Given the description of an element on the screen output the (x, y) to click on. 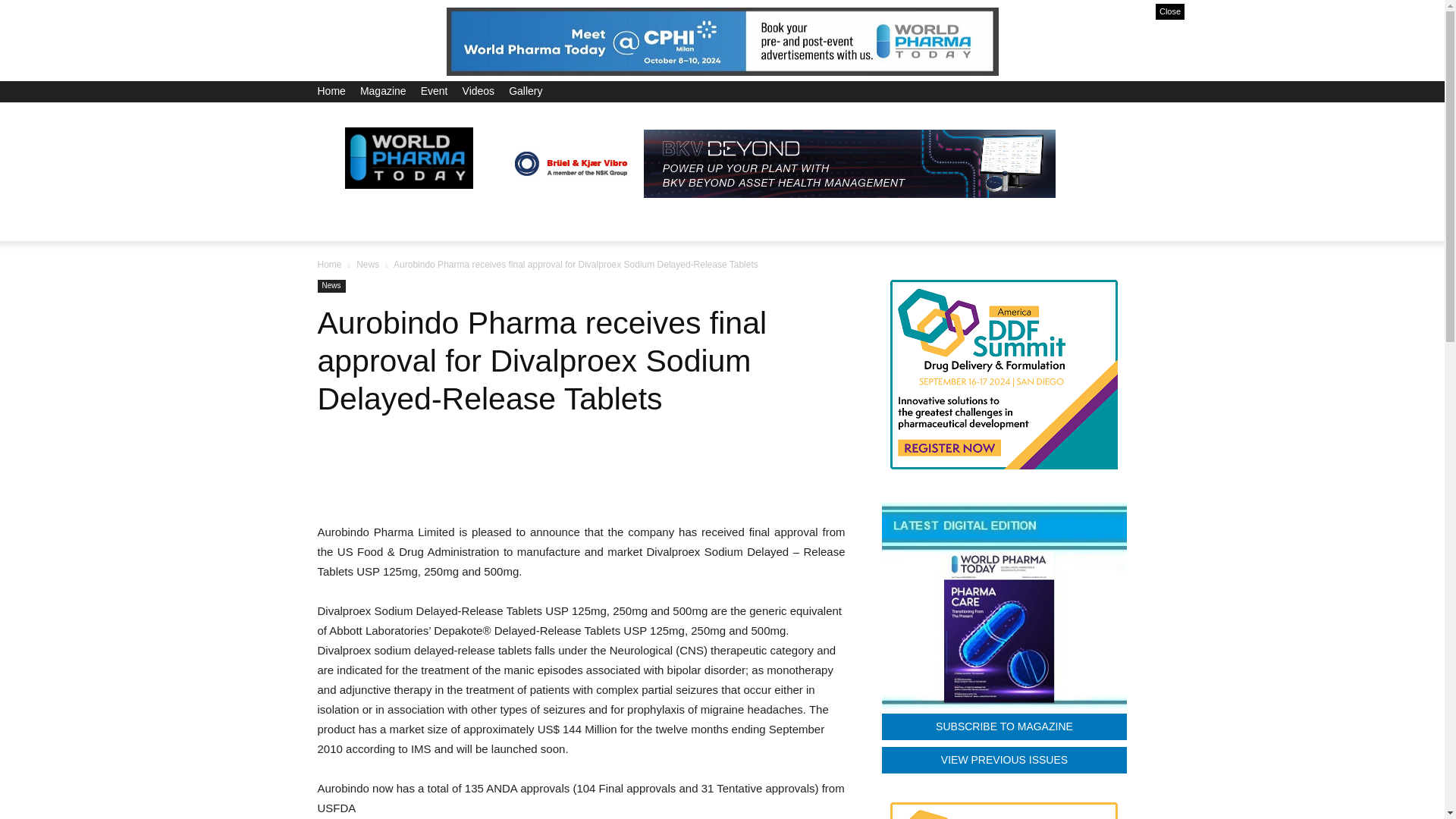
NEWS (396, 222)
Videos (479, 91)
Gallery (524, 91)
Magazine (382, 91)
Home (331, 91)
Event (434, 91)
HOME (343, 222)
World Pharma Today (408, 157)
